Given the description of an element on the screen output the (x, y) to click on. 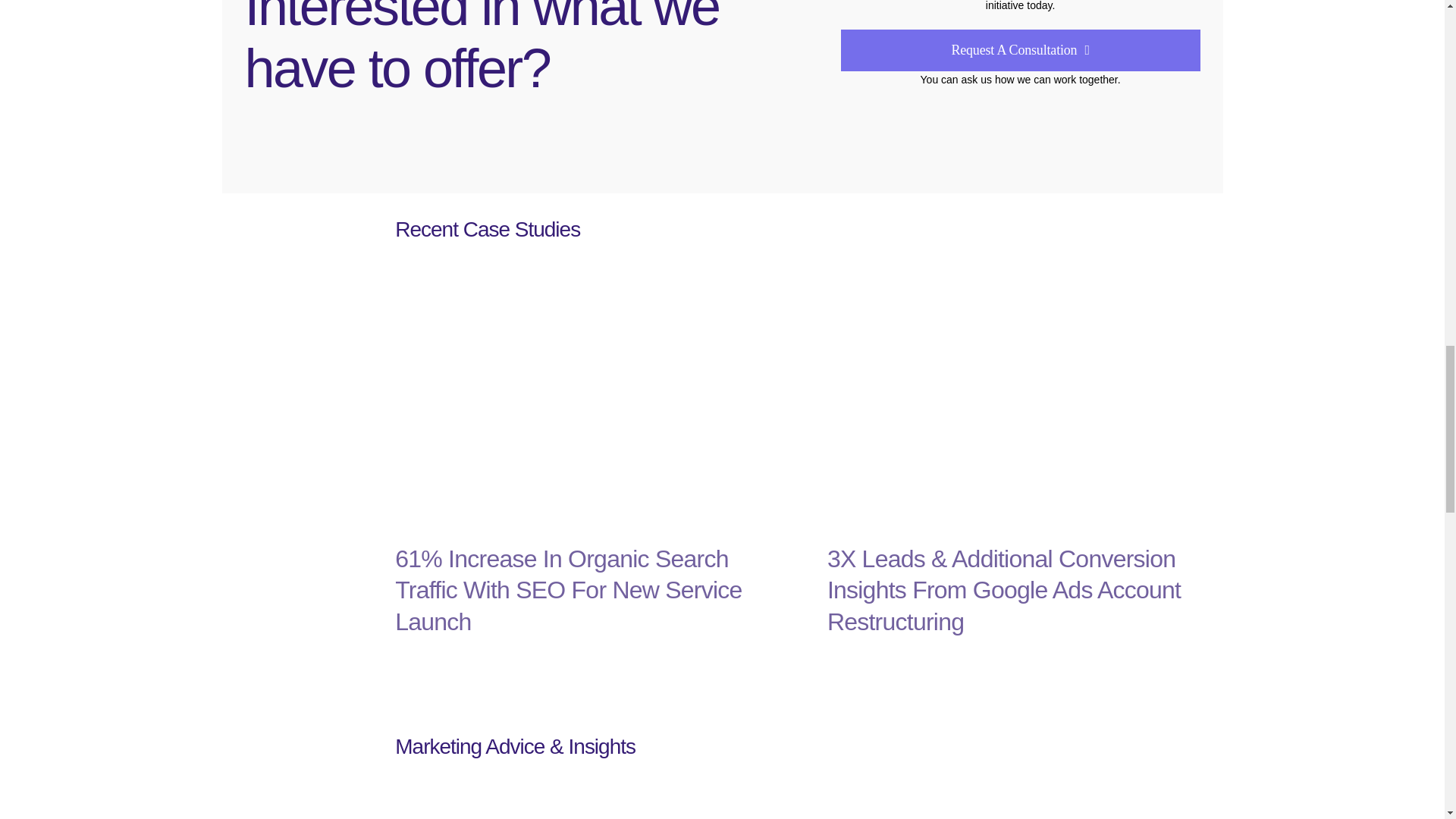
case-study2 (288, 275)
Request A Consultation (1020, 50)
insights (288, 771)
